Given the description of an element on the screen output the (x, y) to click on. 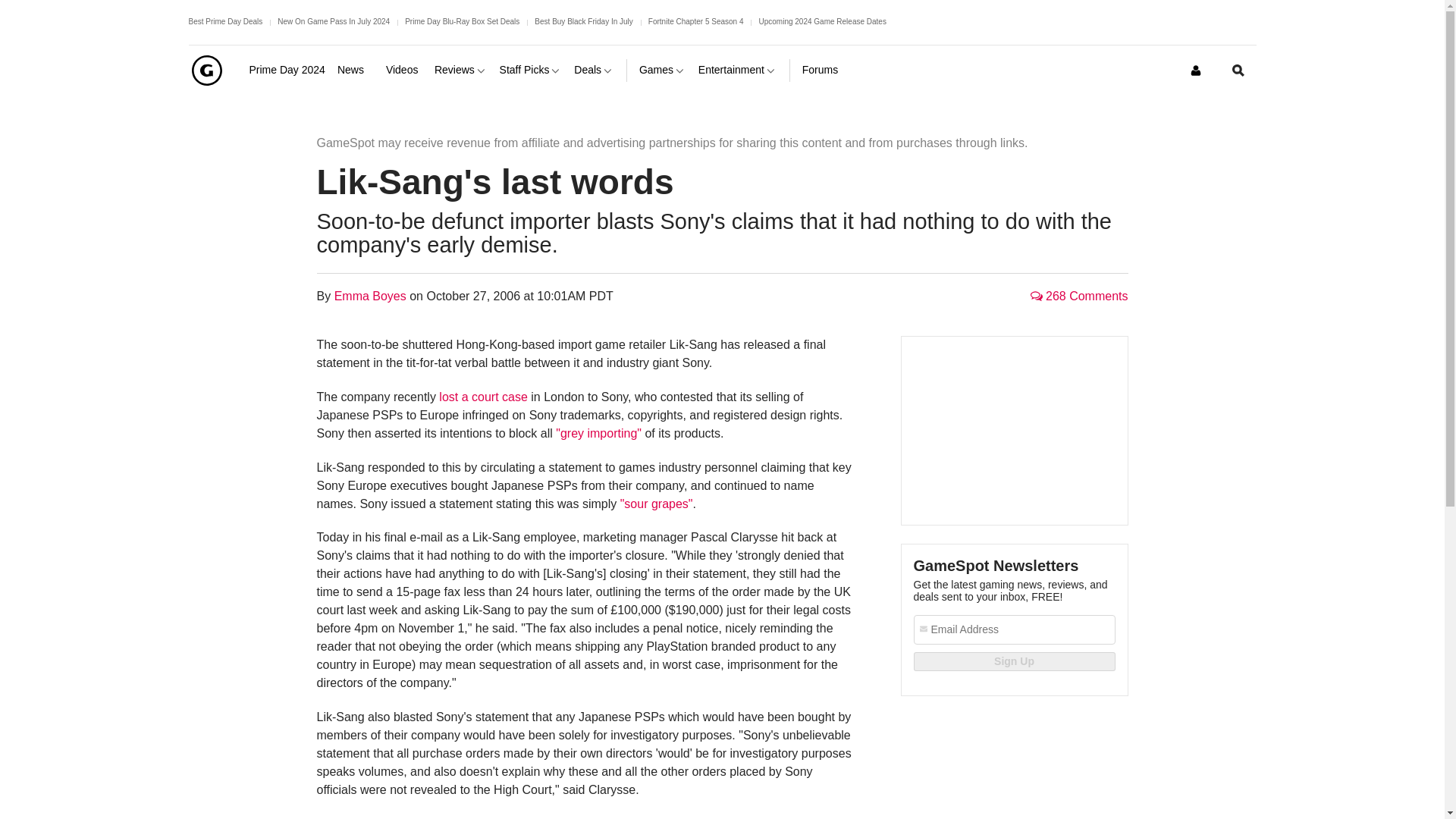
Staff Picks (530, 70)
Games (662, 70)
Reviews (460, 70)
Videos (403, 70)
New On Game Pass In July 2024 (334, 21)
Best Buy Black Friday In July (583, 21)
Upcoming 2024 Game Release Dates (821, 21)
Prime Day Blu-Ray Box Set Deals (461, 21)
Deals (593, 70)
Prime Day 2024 (286, 70)
Fortnite Chapter 5 Season 4 (695, 21)
GameSpot (205, 70)
News (355, 70)
Best Prime Day Deals (224, 21)
